Given the description of an element on the screen output the (x, y) to click on. 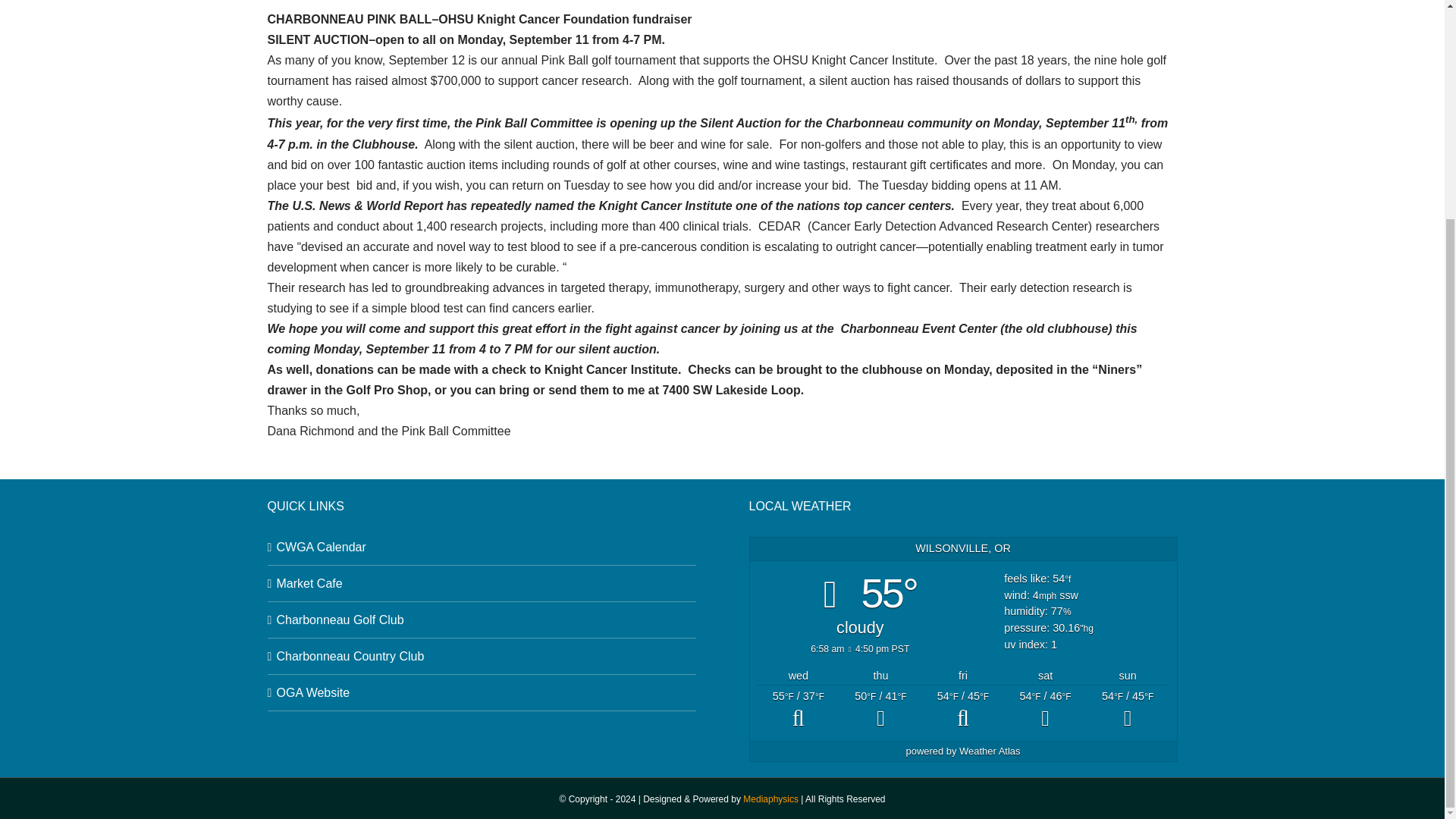
Market Cafe (481, 583)
OGA Website (481, 692)
PM Rain (880, 710)
Charbonneau Country Club (481, 656)
Mediaphysics (769, 798)
Showers (1045, 710)
CWGA Calendar (481, 547)
Charbonneau Golf Club (481, 619)
Partly Cloudy (962, 710)
Showers (1127, 710)
Partly Cloudy (798, 710)
